Given the description of an element on the screen output the (x, y) to click on. 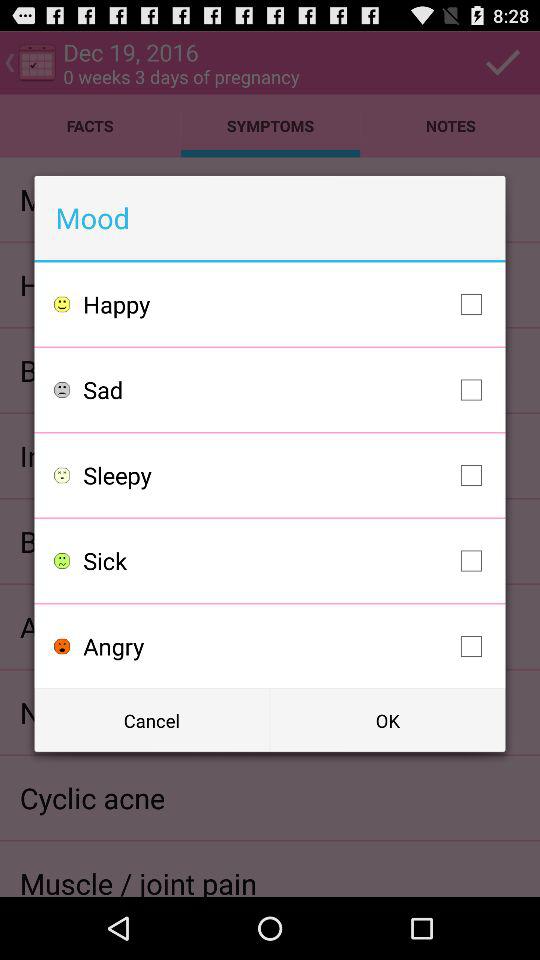
choose happy (287, 304)
